Given the description of an element on the screen output the (x, y) to click on. 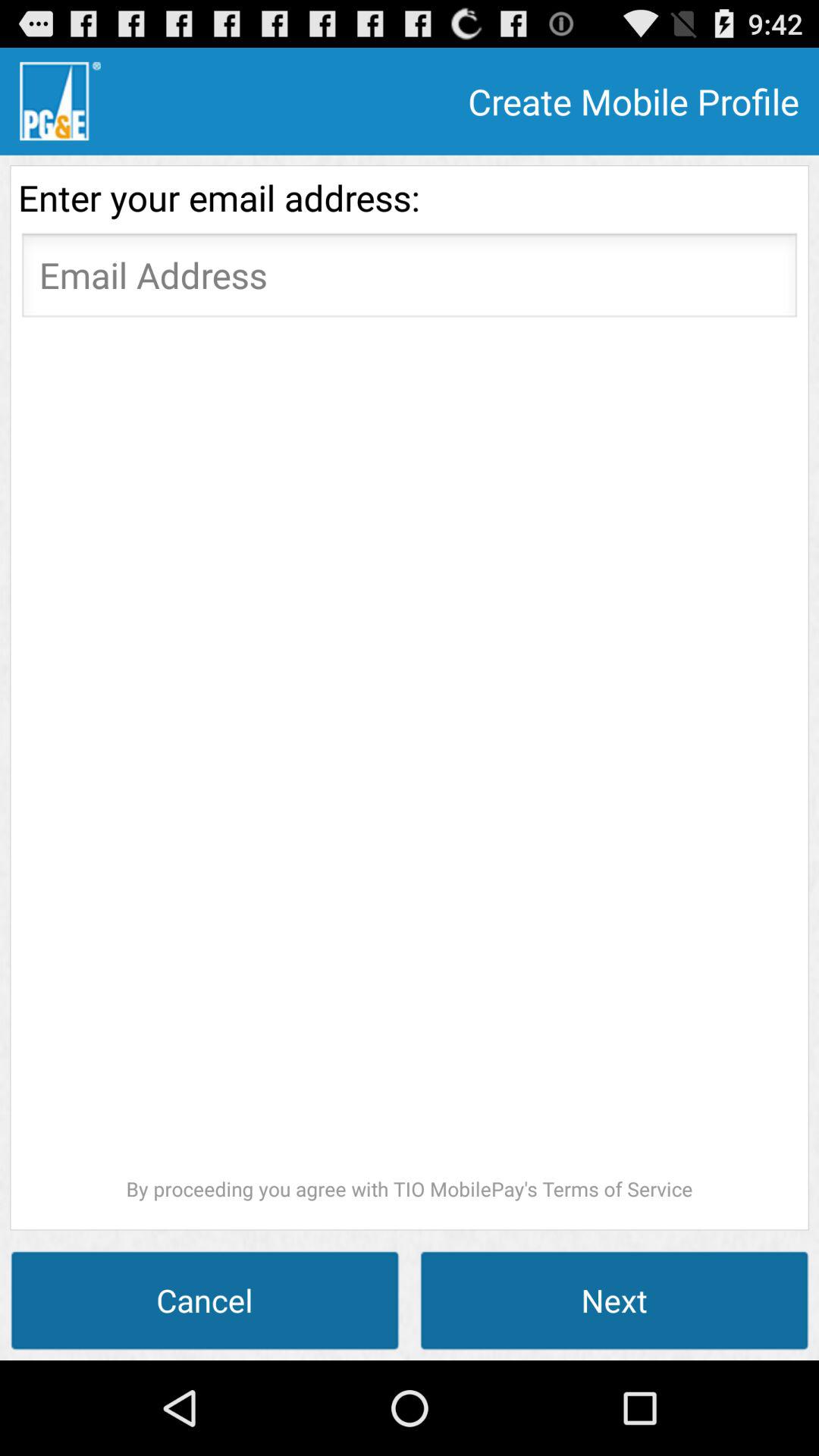
open item at the center (409, 764)
